Given the description of an element on the screen output the (x, y) to click on. 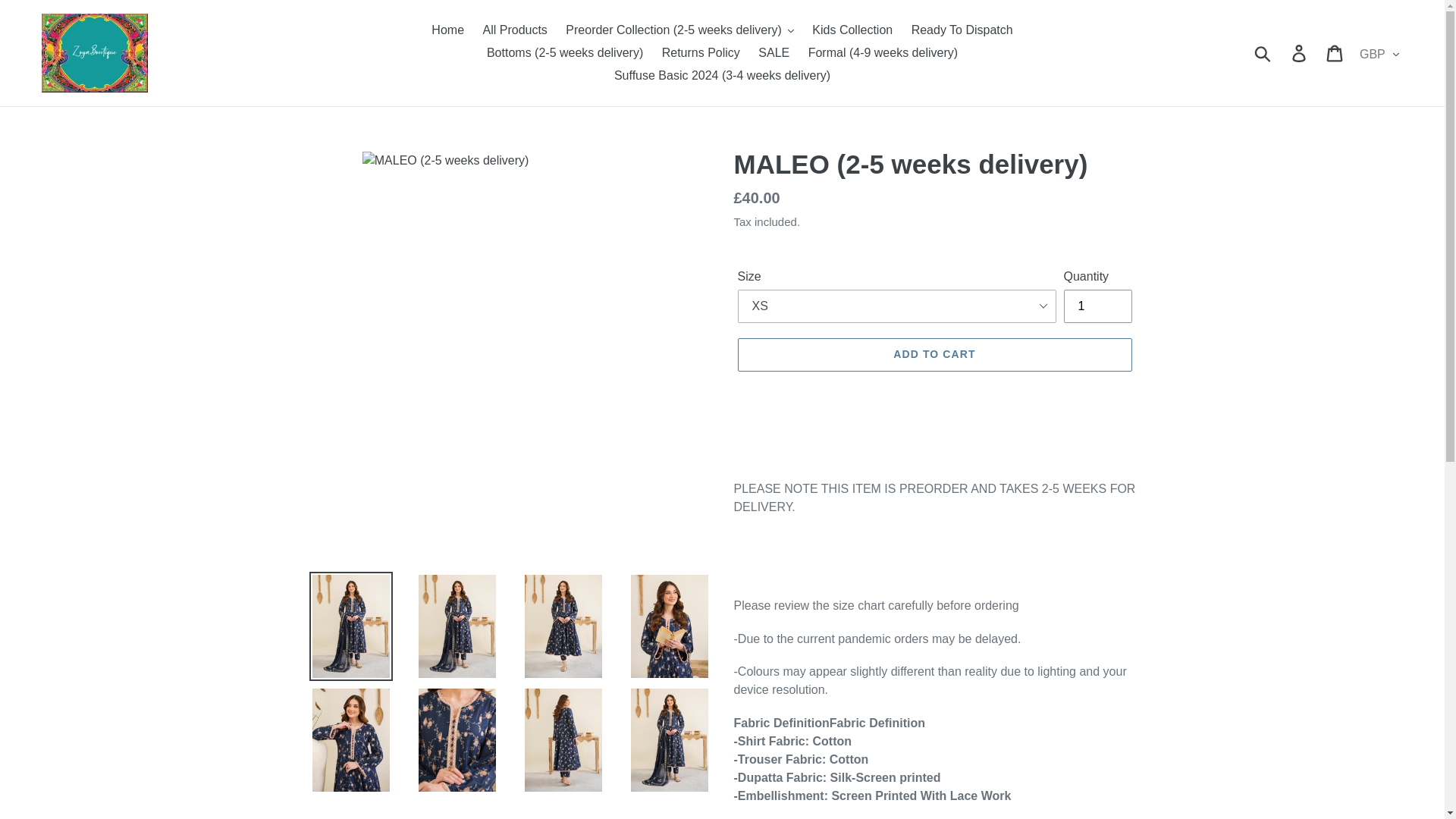
1 (1096, 305)
SALE (773, 52)
Ready To Dispatch (962, 29)
Returns Policy (700, 52)
Submit (1263, 52)
Kids Collection (852, 29)
All Products (514, 29)
Log in (1299, 52)
Cart (1335, 52)
Home (447, 29)
